Given the description of an element on the screen output the (x, y) to click on. 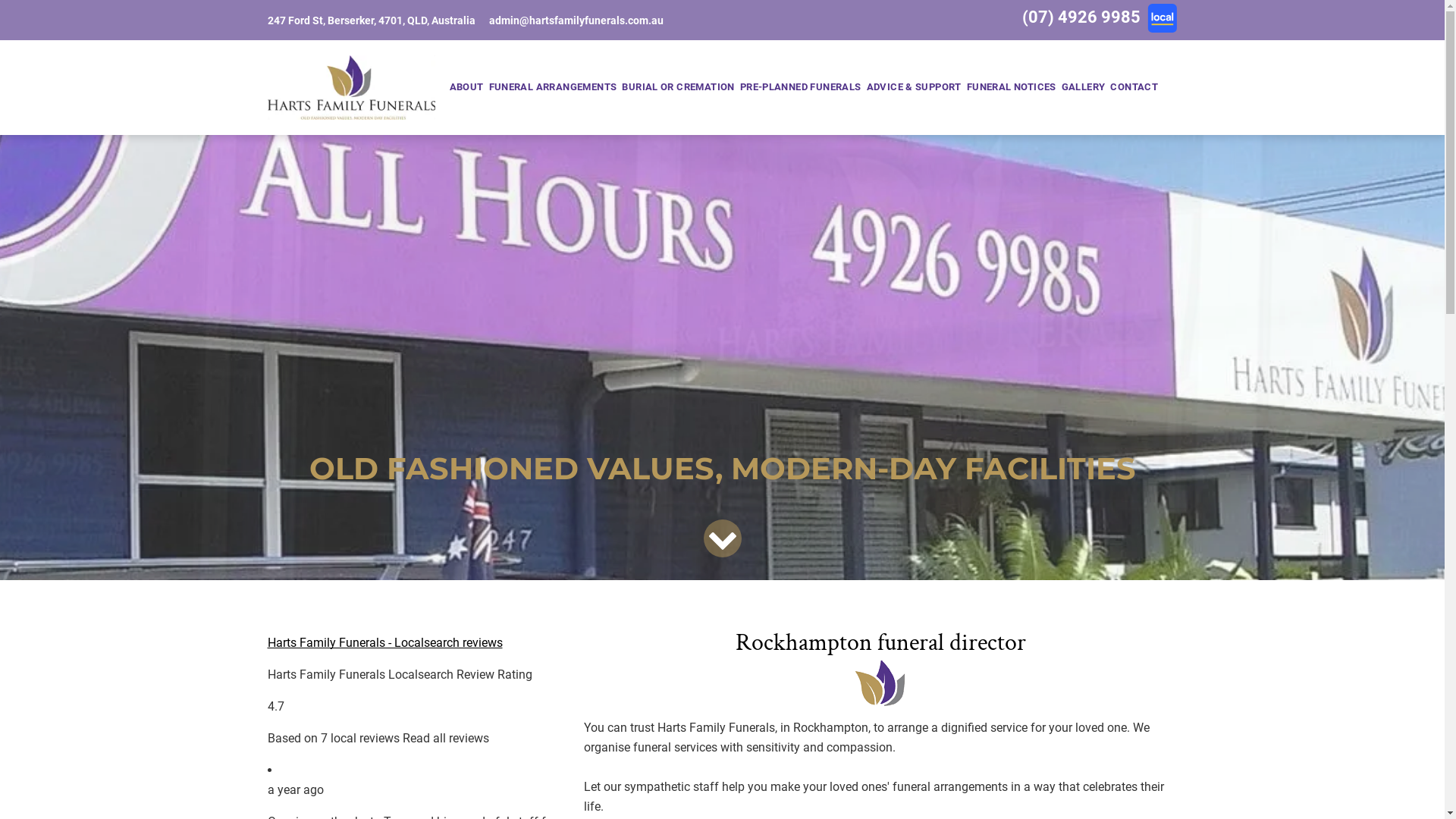
Harts Family Funerals Element type: hover (350, 87)
CONTACT Element type: text (1133, 87)
(07) 4926 9985 Element type: text (1081, 16)
FUNERAL ARRANGEMENTS Element type: text (552, 87)
ADVICE & SUPPORT Element type: text (913, 87)
ABOUT Element type: text (466, 87)
GALLERY Element type: text (1082, 87)
PRE-PLANNED FUNERALS Element type: text (800, 87)
BURIAL OR CREMATION Element type: text (677, 87)
admin@hartsfamilyfunerals.com.au Element type: text (575, 19)
FUNERAL NOTICES Element type: text (1010, 87)
Harts Family Funerals - Localsearch reviews Element type: text (384, 642)
